Given the description of an element on the screen output the (x, y) to click on. 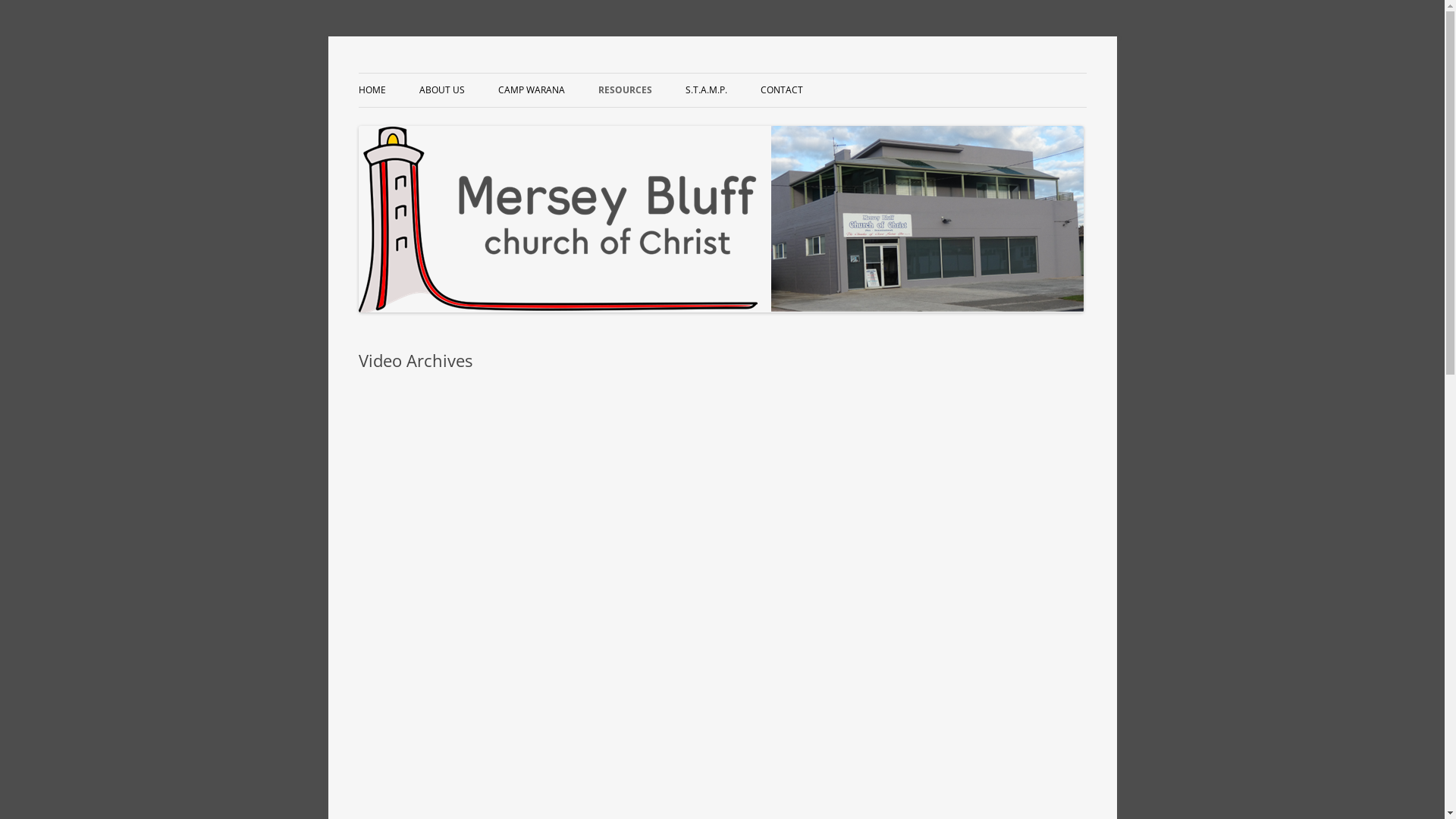
BACK TO BIBLE BASICS Element type: text (673, 122)
RESOURCES Element type: text (624, 89)
CONTACT Element type: text (780, 89)
S.T.A.M.P. Element type: text (706, 89)
Mersey Bluff church of Christ Element type: text (500, 72)
ABOUT US Element type: text (441, 89)
HOME Element type: text (371, 89)
Skip to content Element type: text (721, 72)
CAMP WARANA Element type: text (530, 89)
